Given the description of an element on the screen output the (x, y) to click on. 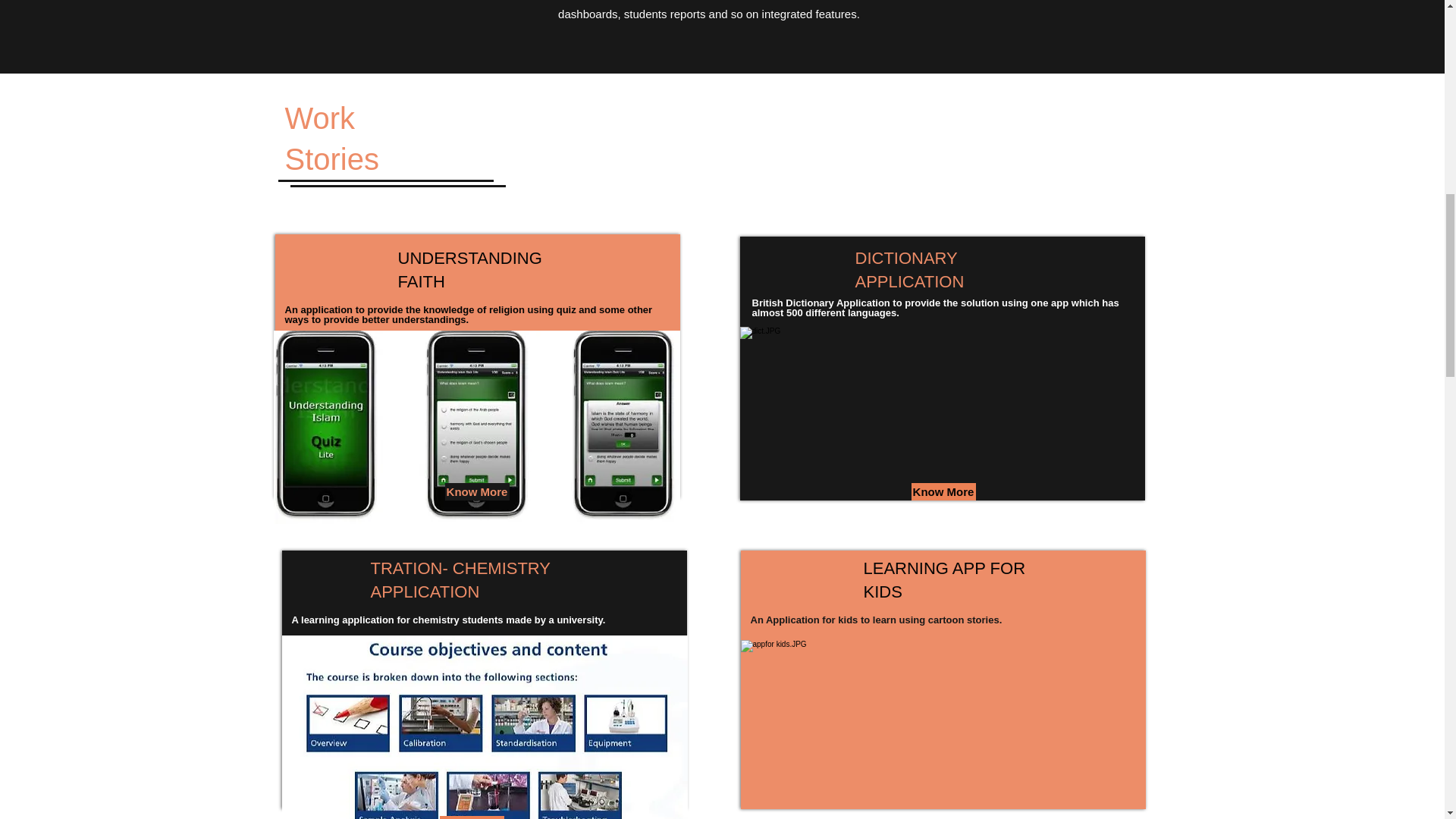
Know More (471, 817)
Know More (476, 491)
Know More (943, 491)
